Given the description of an element on the screen output the (x, y) to click on. 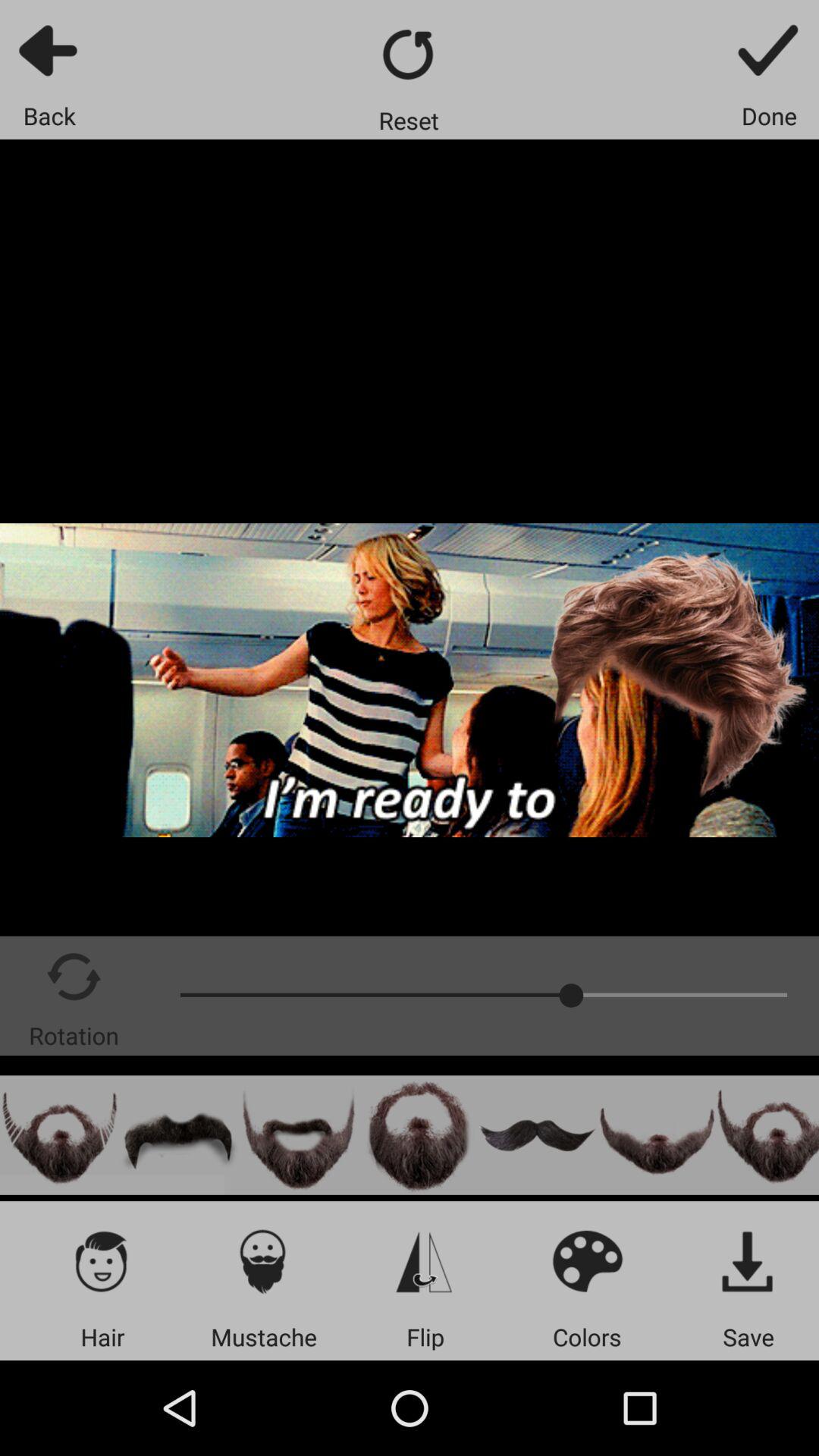
back to previous screen (49, 49)
